Given the description of an element on the screen output the (x, y) to click on. 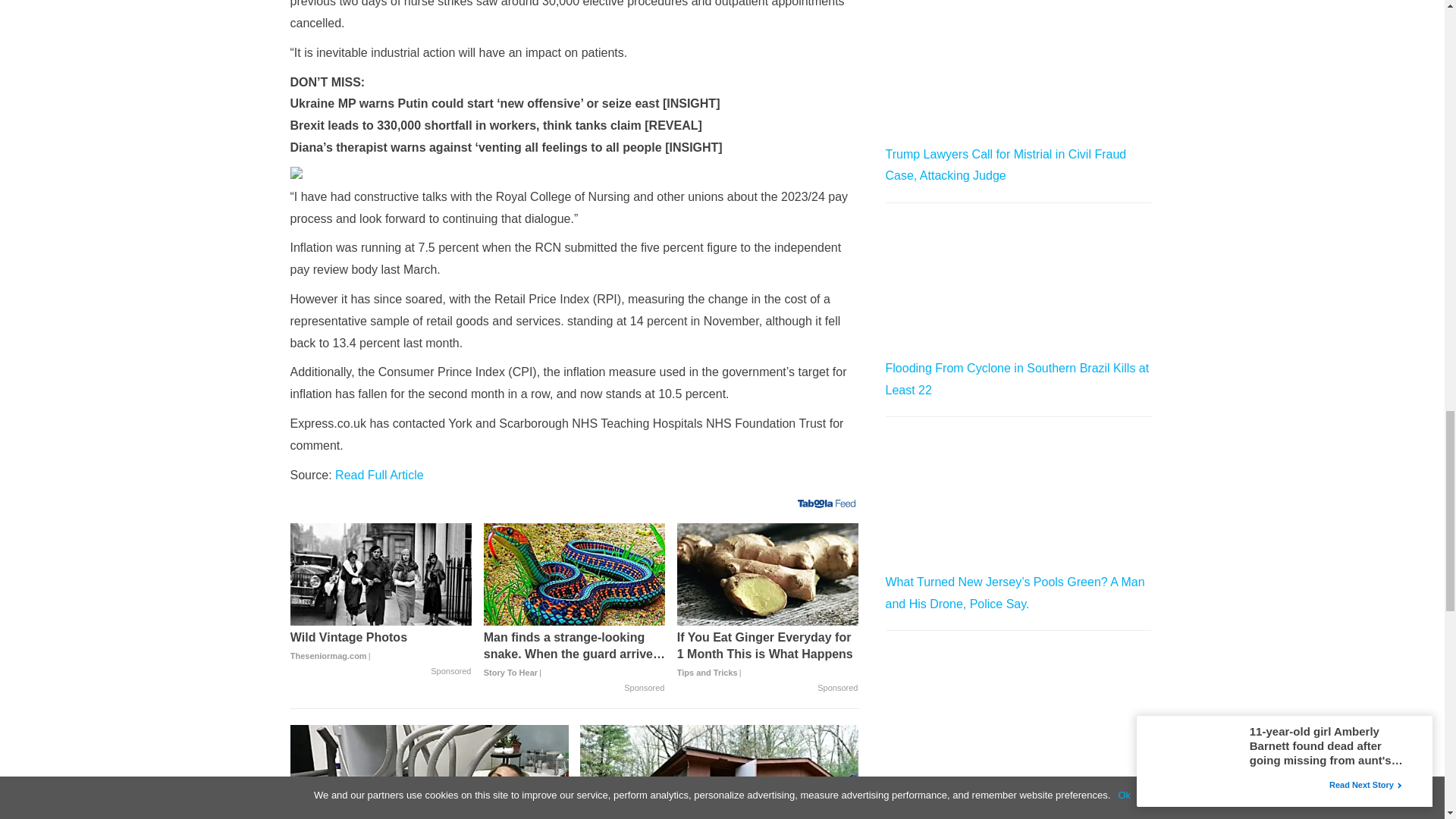
Sponsored (643, 688)
Read Full Article (378, 474)
Sponsored (836, 688)
Wild Vintage Photos (380, 646)
Sponsored (450, 671)
Wild Vintage Photos (380, 574)
